Given the description of an element on the screen output the (x, y) to click on. 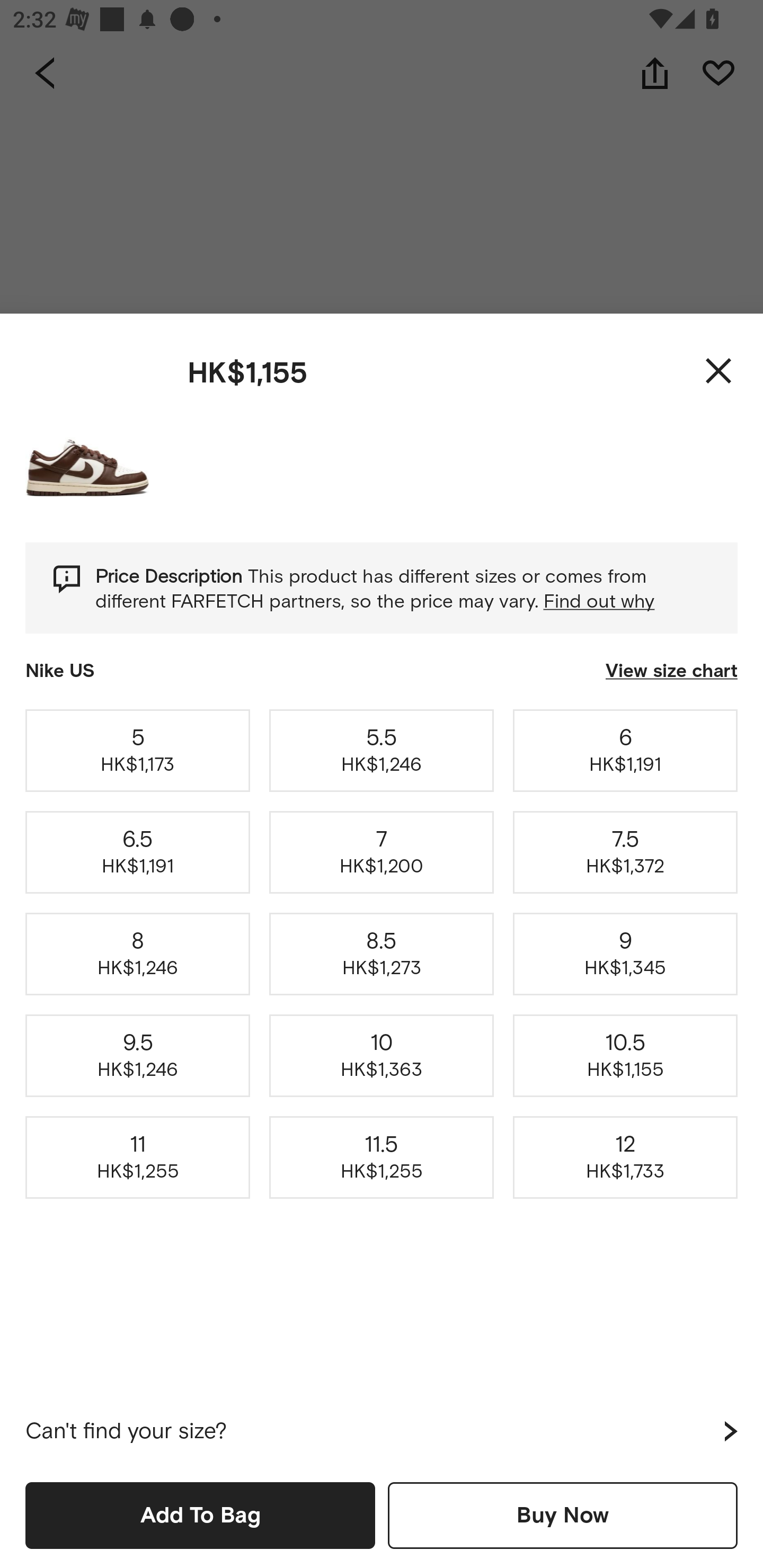
5 HK$1,173 (137, 749)
5.5 HK$1,246 (381, 749)
6 HK$1,191 (624, 749)
6.5 HK$1,191 (137, 851)
7 HK$1,200 (381, 851)
7.5 HK$1,372 (624, 851)
8 HK$1,246 (137, 953)
8.5 HK$1,273 (381, 953)
9 HK$1,345 (624, 953)
9.5 HK$1,246 (137, 1055)
10 HK$1,363 (381, 1055)
10.5 HK$1,155 (624, 1055)
11 HK$1,255 (137, 1157)
11.5 HK$1,255 (381, 1157)
12 HK$1,733 (624, 1157)
Can't find your size? (381, 1431)
Add To Bag (200, 1515)
Buy Now (562, 1515)
